Given the description of an element on the screen output the (x, y) to click on. 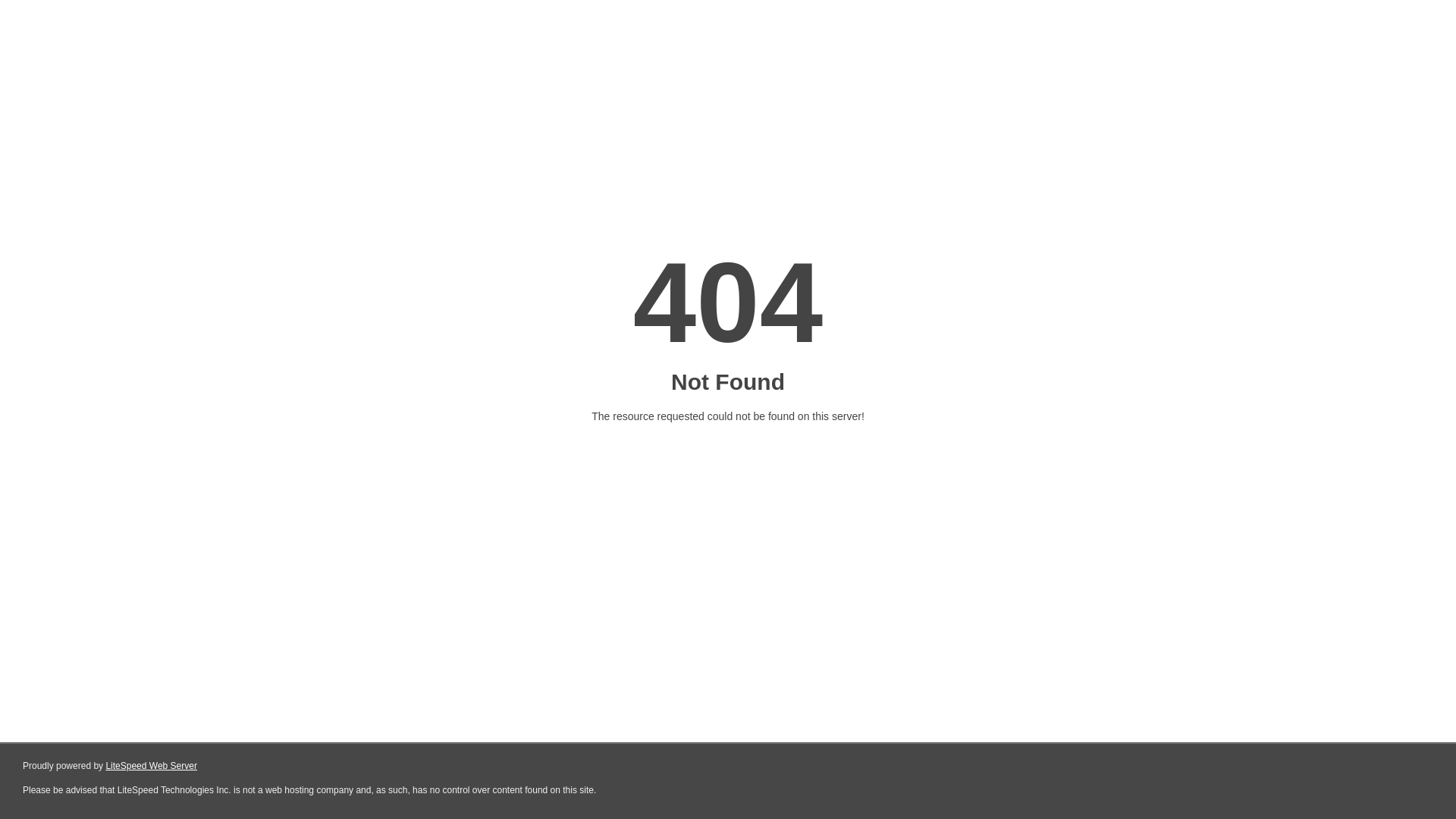
LiteSpeed Web Server Element type: text (151, 765)
